Given the description of an element on the screen output the (x, y) to click on. 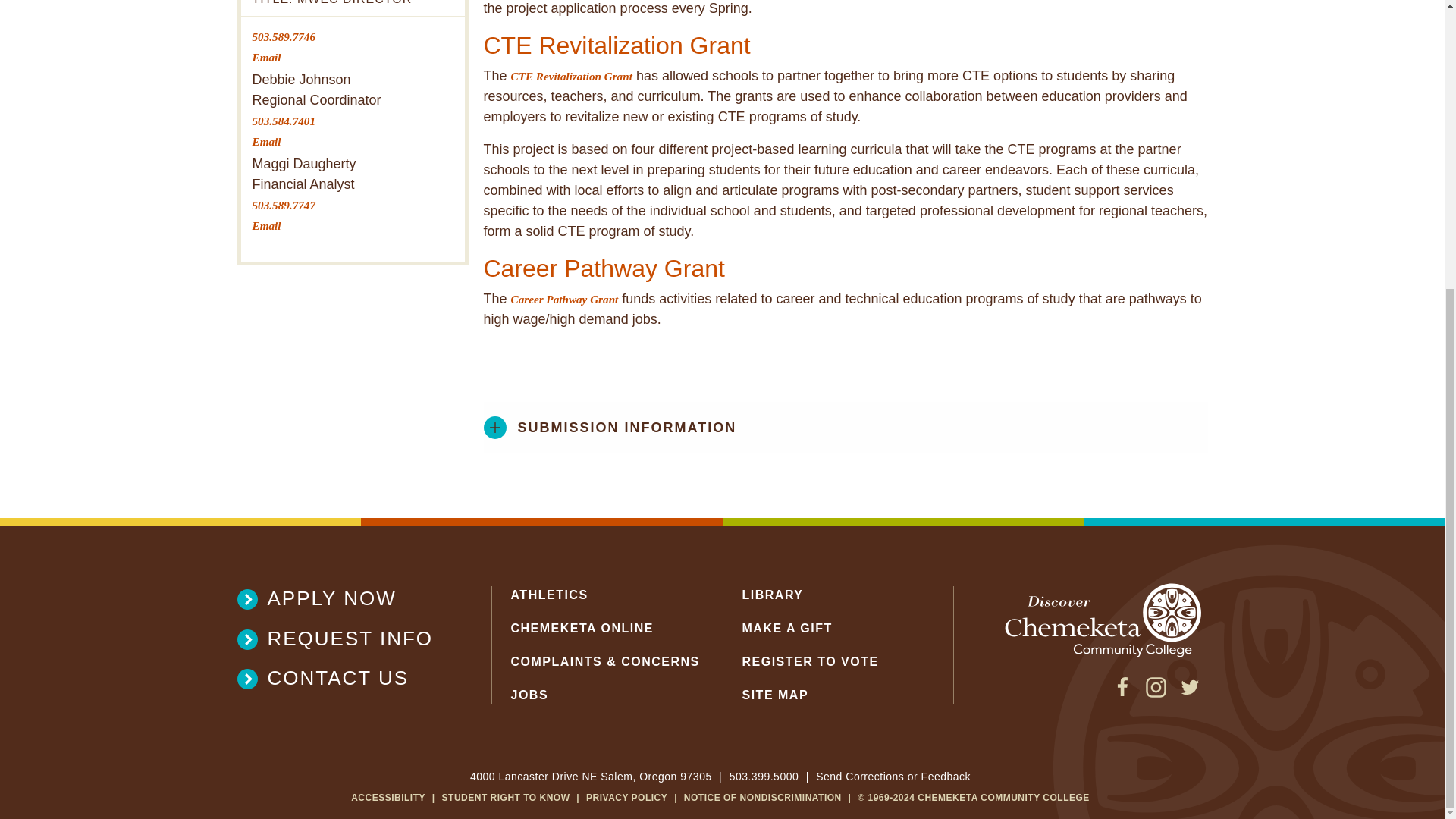
Contact Us (343, 678)
Twitter (1189, 693)
Apply Now (343, 598)
Facebook (1122, 693)
Instagram (1155, 693)
Request Info (343, 638)
